Given the description of an element on the screen output the (x, y) to click on. 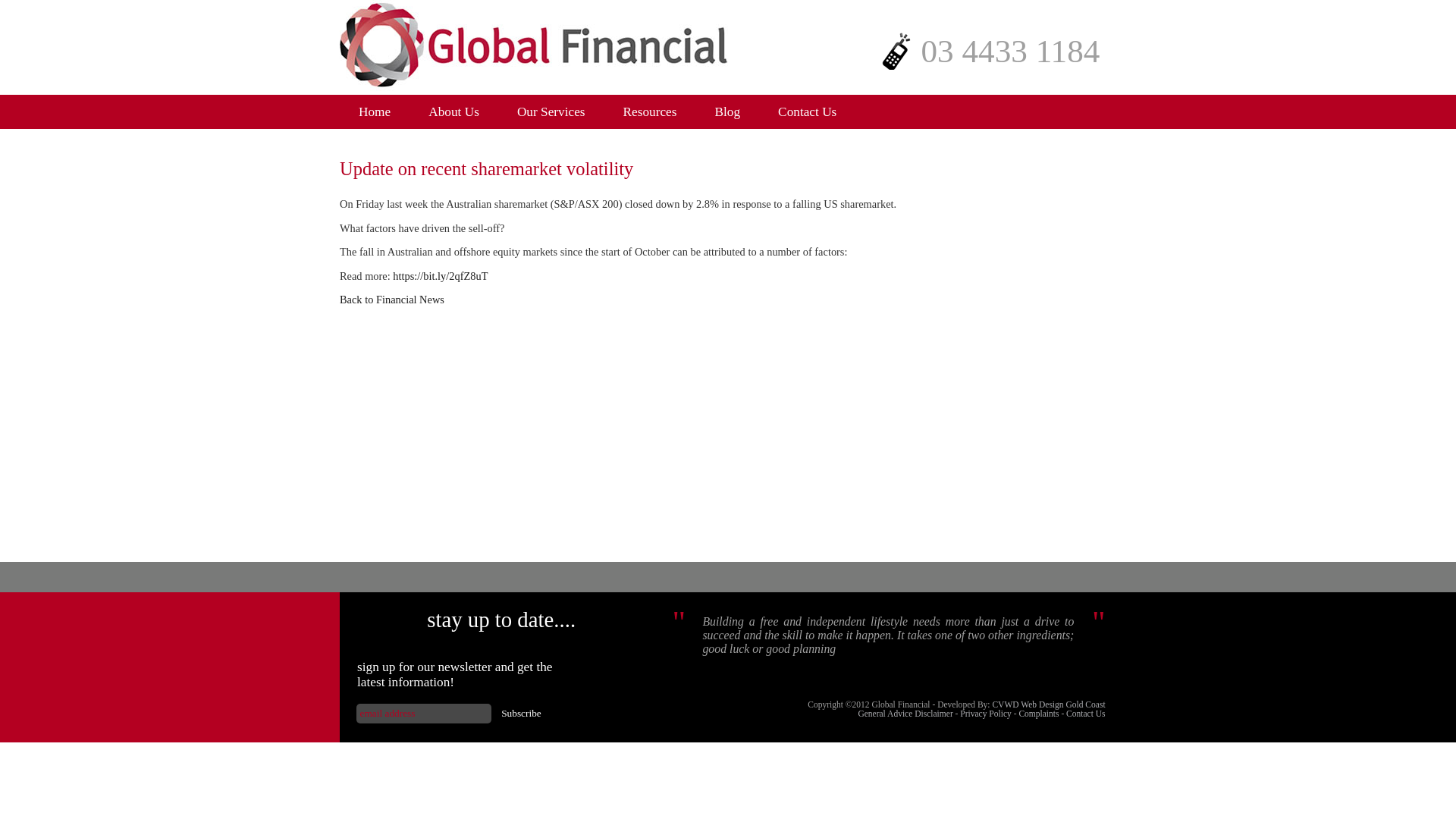
Our Services (550, 111)
 Global Financial (374, 111)
Back to (357, 299)
Contact Us (1085, 713)
CVWD Web Design Gold Coast (1048, 704)
Resources (649, 111)
Complaints (1037, 713)
Subscribe (520, 713)
About Us (453, 111)
Contact Us (807, 111)
